Given the description of an element on the screen output the (x, y) to click on. 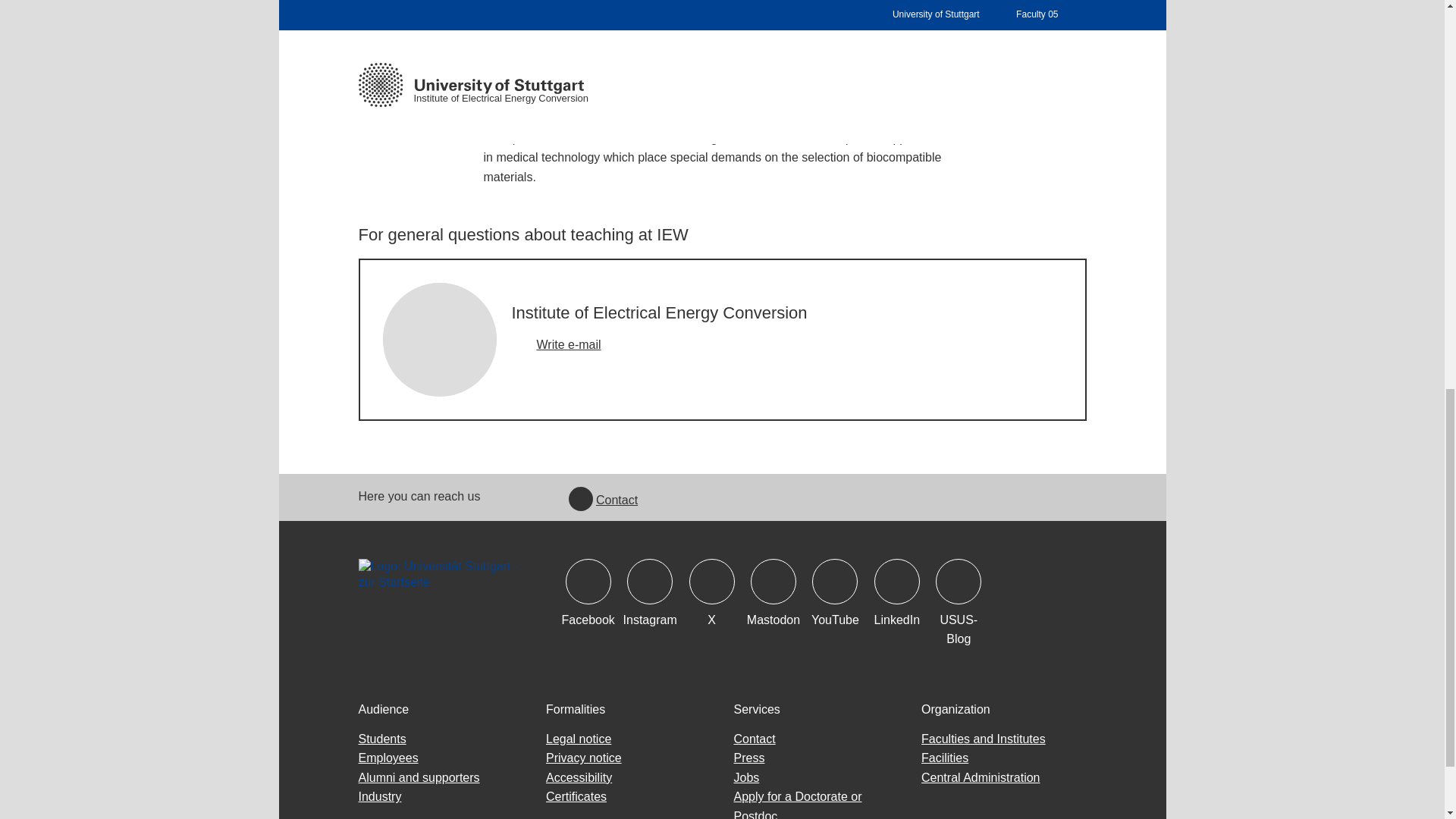
To the top of the page (1135, 38)
To the top of the page (1135, 30)
